Given the description of an element on the screen output the (x, y) to click on. 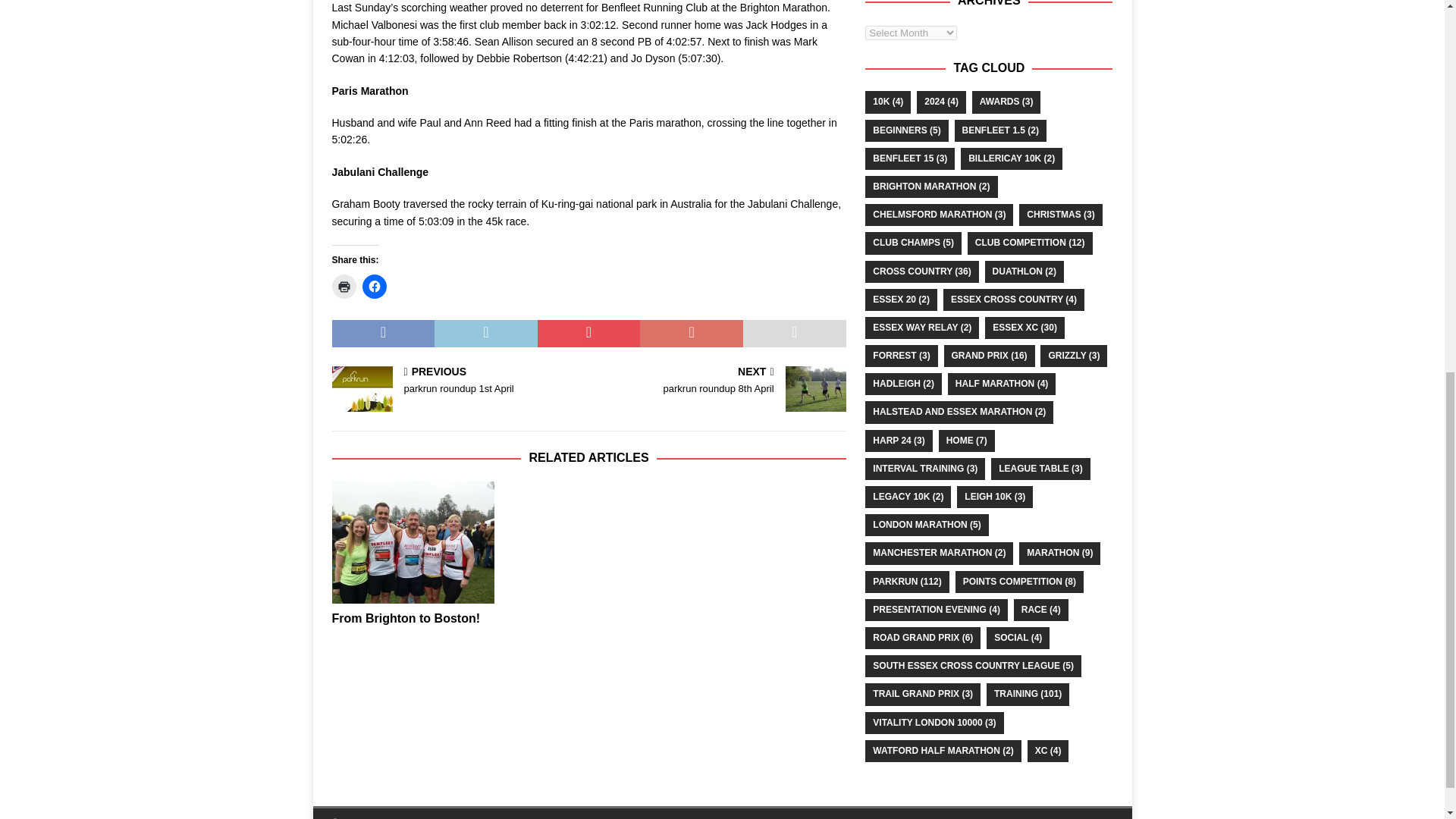
Click to share on Facebook (374, 286)
From Brighton to Boston! (413, 542)
Click to print (343, 286)
From Brighton to Boston! (405, 617)
